Given the description of an element on the screen output the (x, y) to click on. 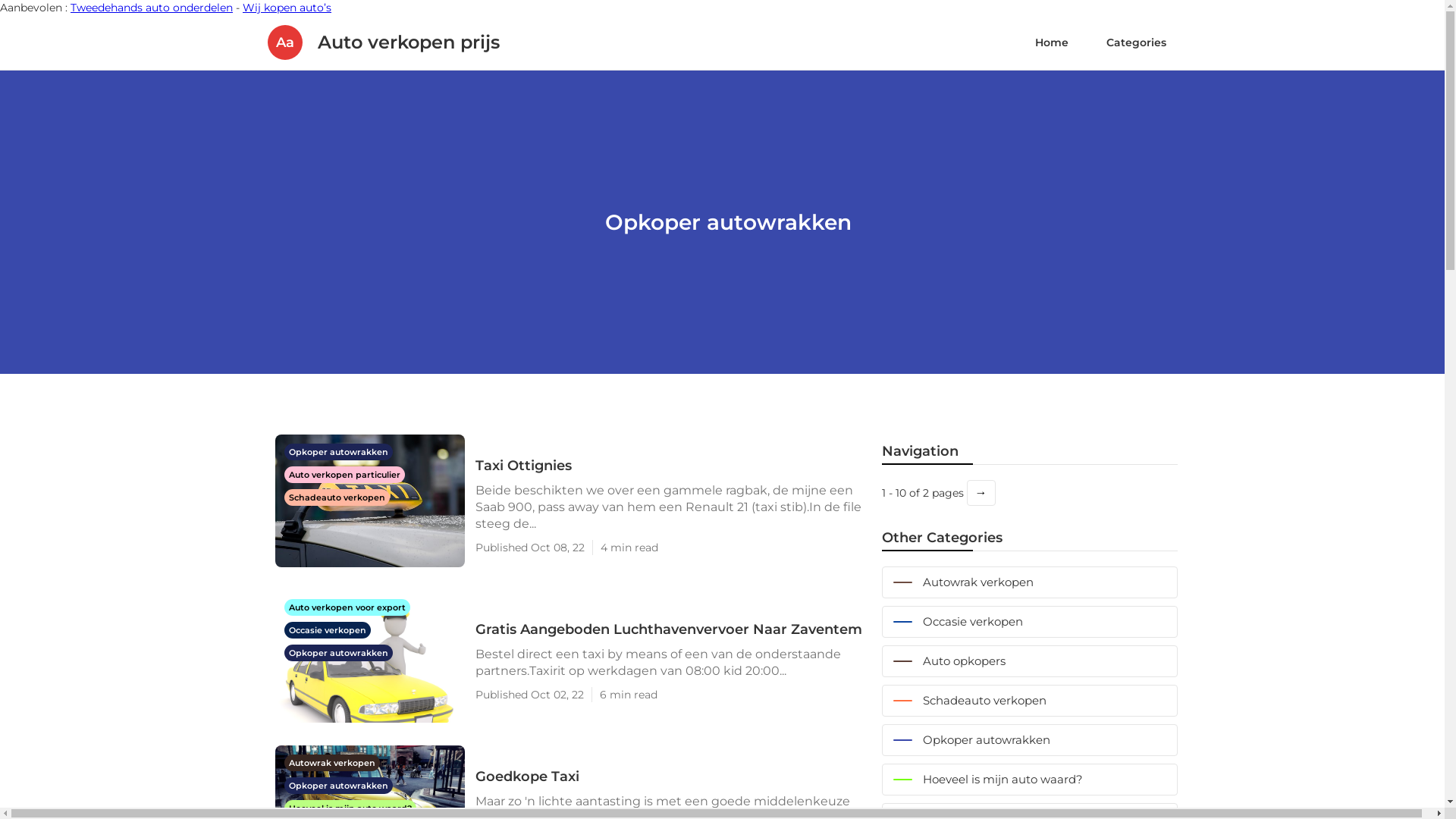
Opkoper autowrakken Element type: text (337, 451)
Schadeauto verkopen Element type: text (1028, 700)
Auto opkopers Element type: text (1028, 661)
Goedkope Taxi Element type: text (670, 776)
Hoeveel is mijn auto waard? Element type: text (349, 807)
Auto verkopen voor export Element type: text (346, 606)
Auto verkopen particulier Element type: text (343, 473)
Occasie verkopen Element type: text (326, 629)
Occasie verkopen Element type: text (1028, 621)
Autowrak verkopen Element type: text (331, 761)
Categories Element type: text (1136, 42)
Gratis Aangeboden Luchthavenvervoer Naar Zaventem Element type: text (670, 629)
Autowrak verkopen Element type: text (1028, 582)
Tweedehands auto onderdelen Element type: text (151, 7)
Taxi Ottignies Element type: text (670, 465)
Opkoper autowrakken Element type: text (337, 651)
Home Element type: text (1051, 42)
Schadeauto verkopen Element type: text (336, 496)
Hoeveel is mijn auto waard? Element type: text (1028, 779)
Opkoper autowrakken Element type: text (337, 784)
Opkoper autowrakken Element type: text (1028, 740)
